Given the description of an element on the screen output the (x, y) to click on. 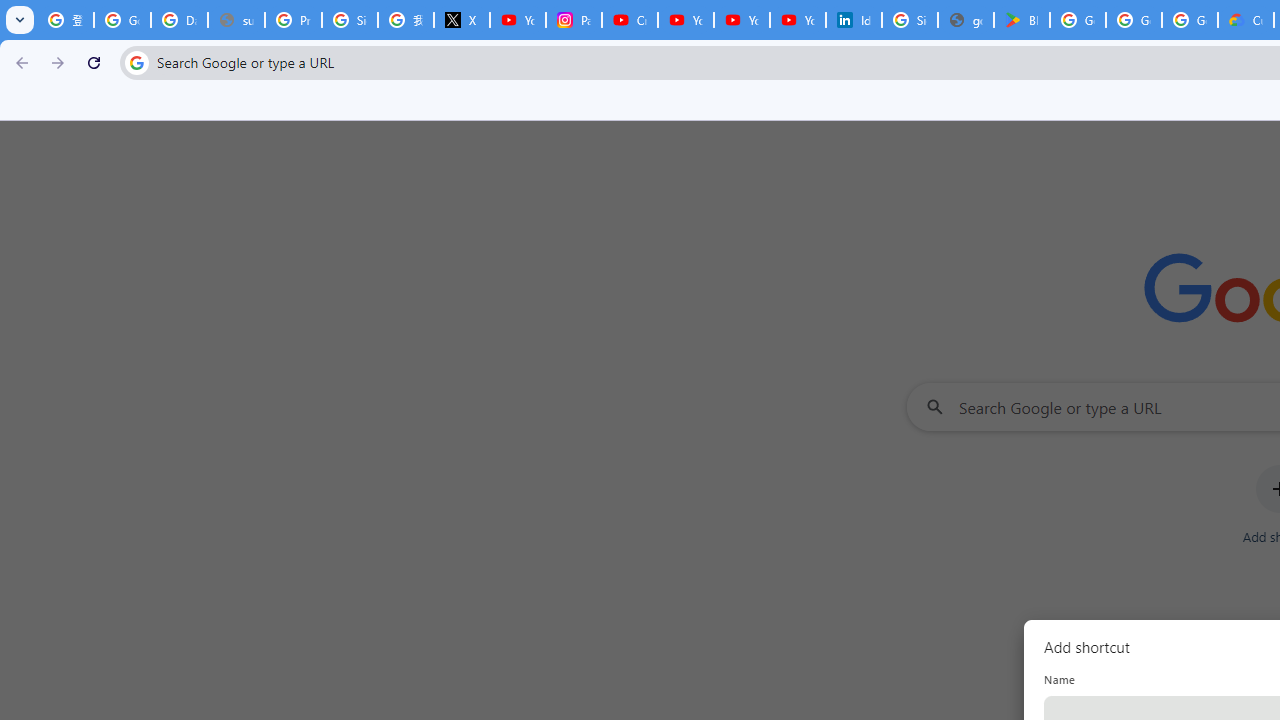
Google Workspace - Specific Terms (1133, 20)
YouTube Culture & Trends - YouTube Top 10, 2021 (742, 20)
Bluey: Let's Play! - Apps on Google Play (1021, 20)
YouTube Culture & Trends - YouTube Top 10, 2021 (797, 20)
